Given the description of an element on the screen output the (x, y) to click on. 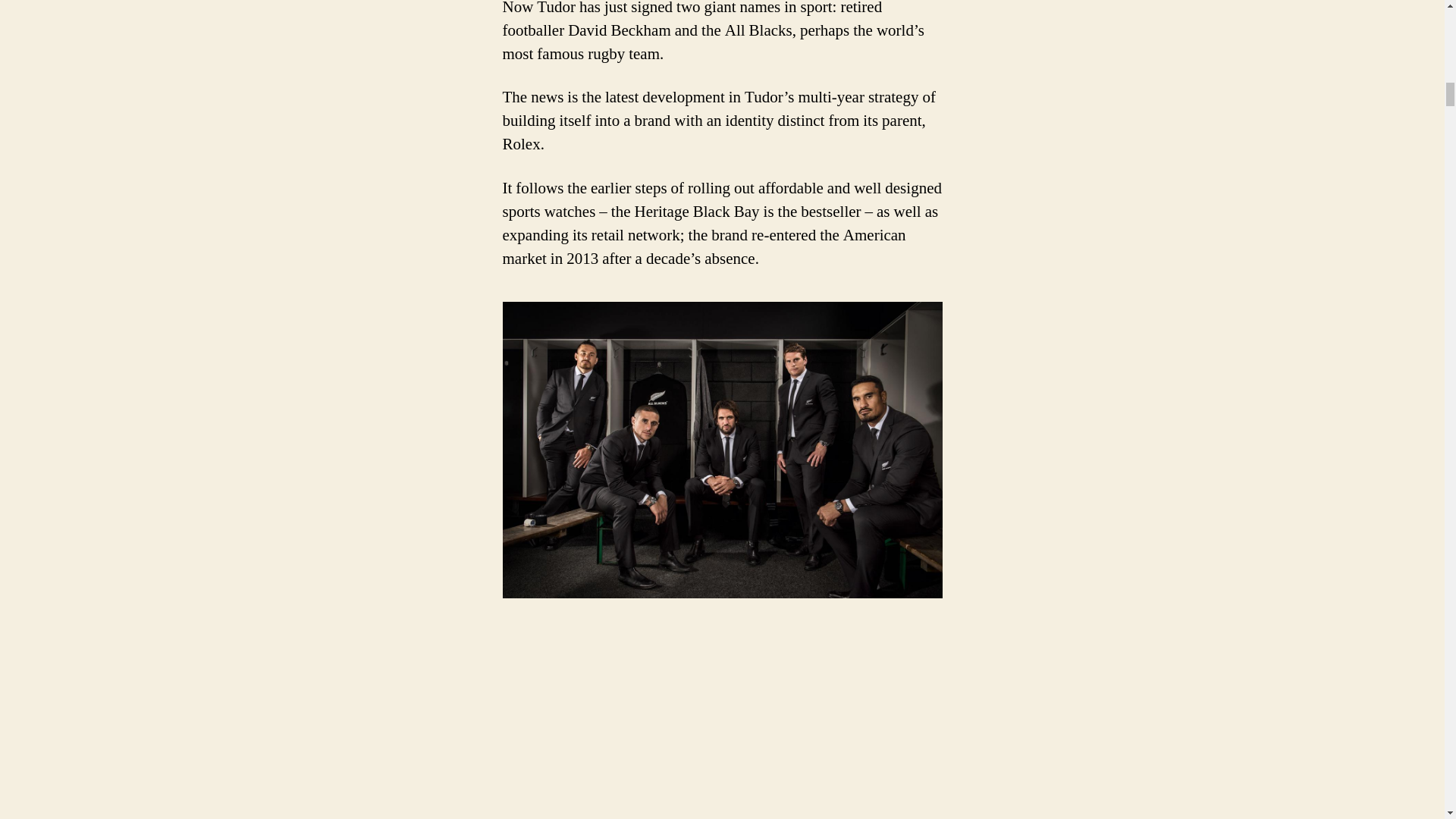
Advertisement (219, 723)
